Given the description of an element on the screen output the (x, y) to click on. 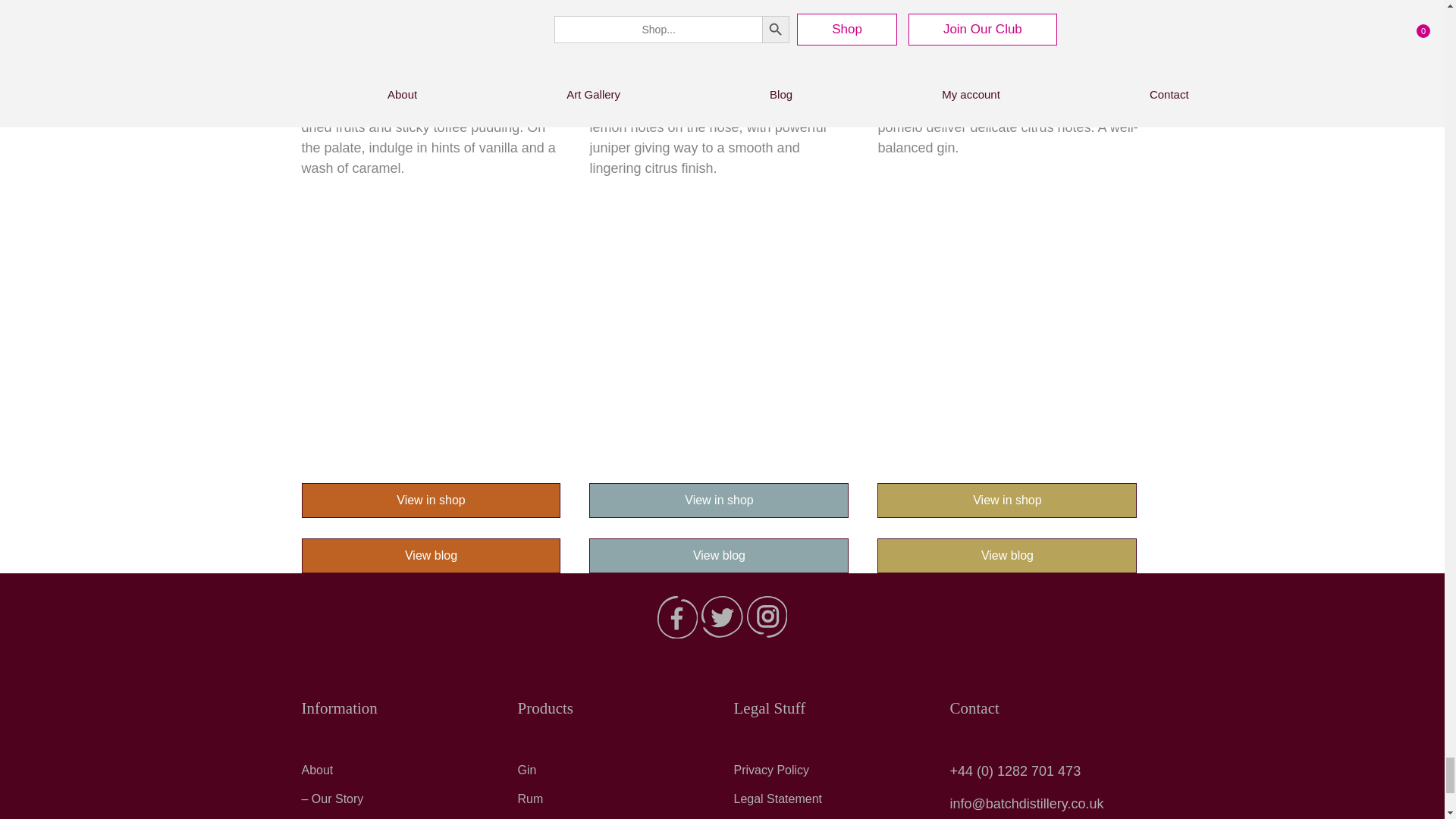
icon-instagram (766, 616)
icon-facebook (677, 617)
icon-twitter (721, 616)
